Given the description of an element on the screen output the (x, y) to click on. 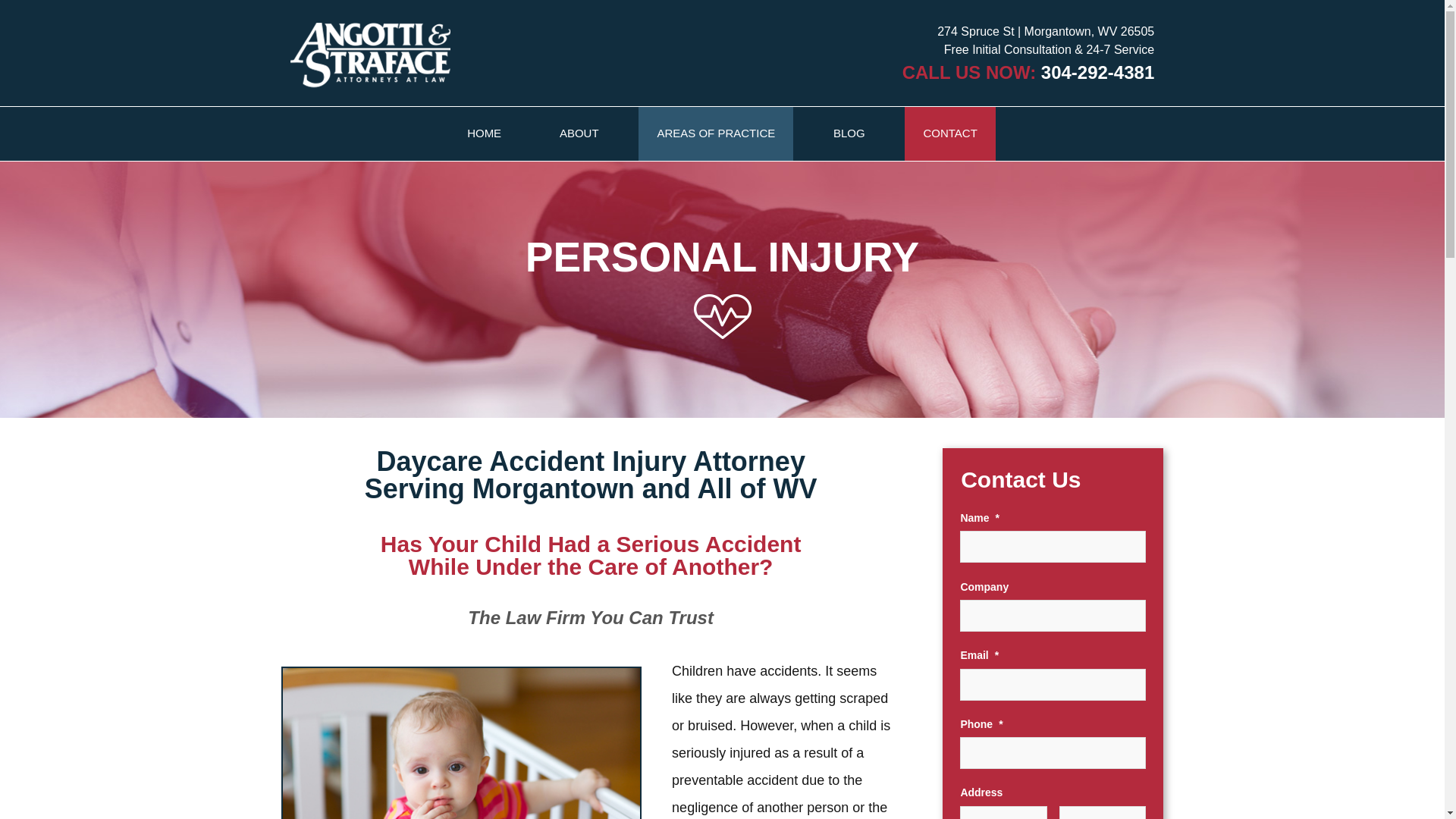
ABOUT (579, 133)
HOME (483, 133)
CALL US NOW: 304-292-4381 (1028, 72)
AREAS OF PRACTICE (716, 133)
